Given the description of an element on the screen output the (x, y) to click on. 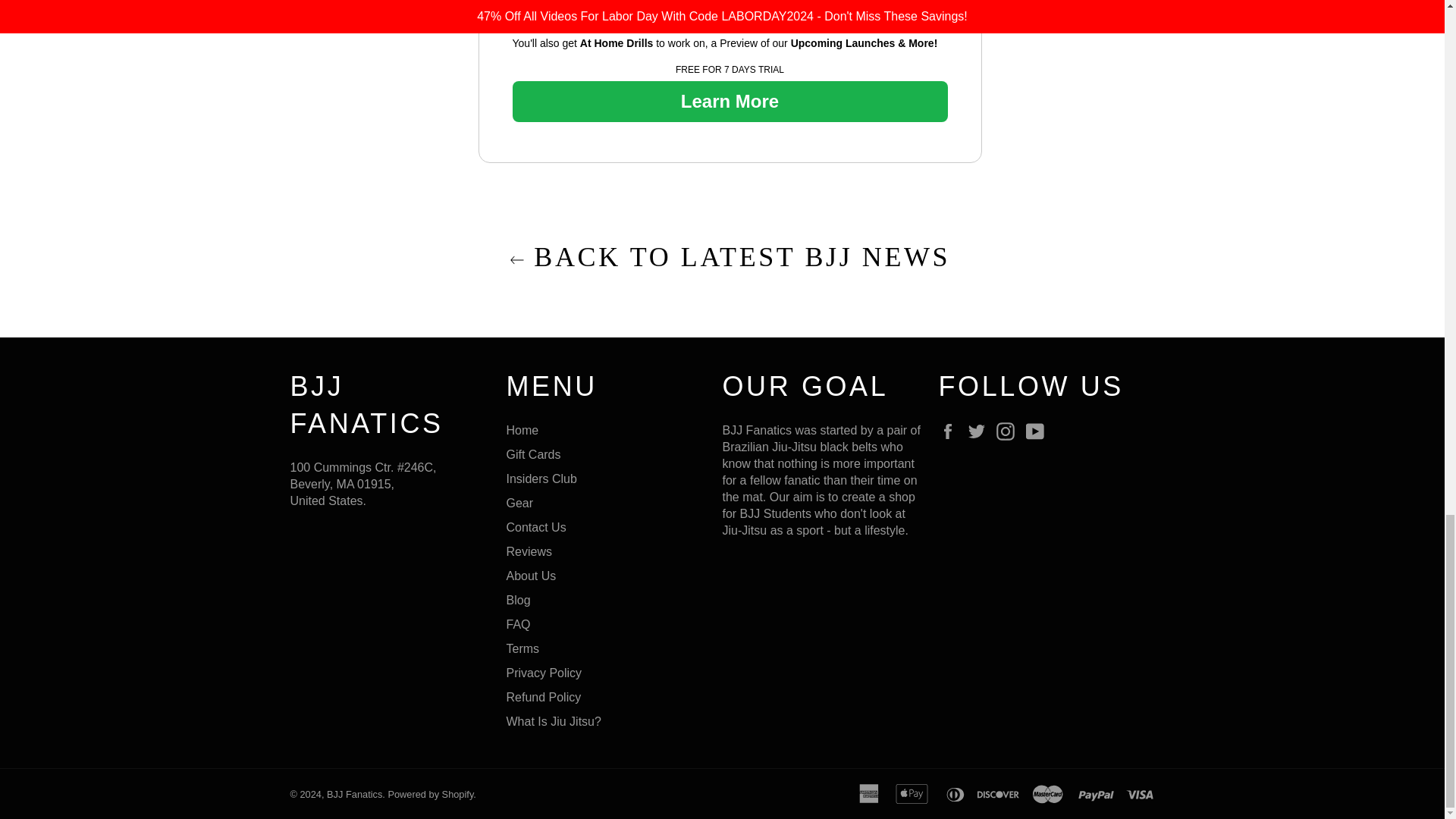
BJJ Fanatics on Facebook (951, 431)
BJJ Fanatics on YouTube (1038, 431)
BJJ Fanatics on Instagram (1008, 431)
BJJ Fanatics on Twitter (980, 431)
